Given the description of an element on the screen output the (x, y) to click on. 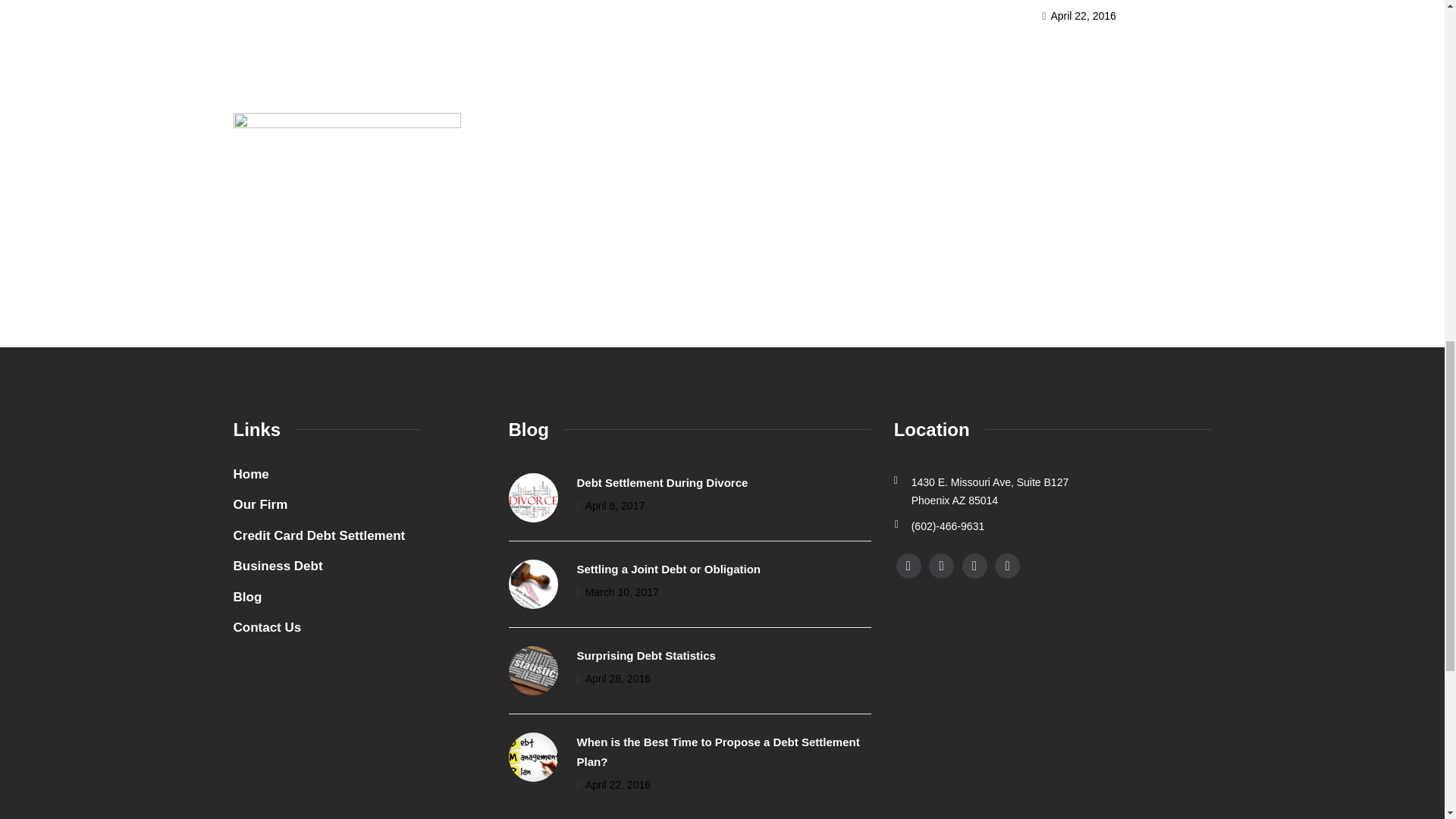
Settling a Joint Debt or Obligation (668, 568)
Debt Settlement During Divorce (662, 481)
Surprising Debt Statistics (645, 655)
